Given the description of an element on the screen output the (x, y) to click on. 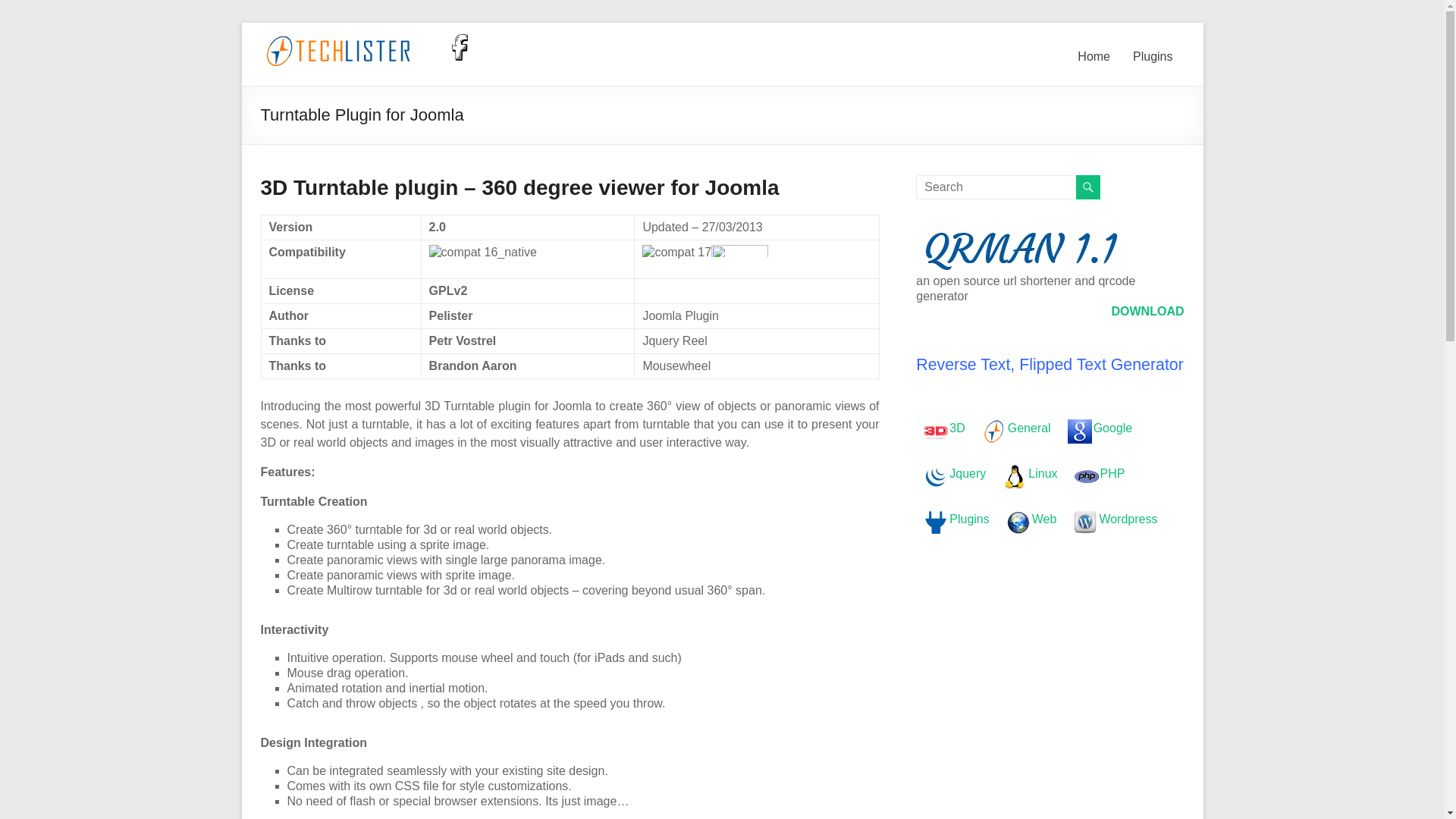
PHP (1099, 472)
3D (943, 427)
Plugins (955, 518)
General (993, 431)
Linux (1014, 476)
Plugins (1152, 60)
3D (935, 431)
Home (1093, 60)
Wordpress (1085, 522)
Web (1018, 522)
Jquery (935, 476)
Linux (1030, 472)
PHP (1086, 476)
Jquery (954, 472)
Google (1099, 427)
